Given the description of an element on the screen output the (x, y) to click on. 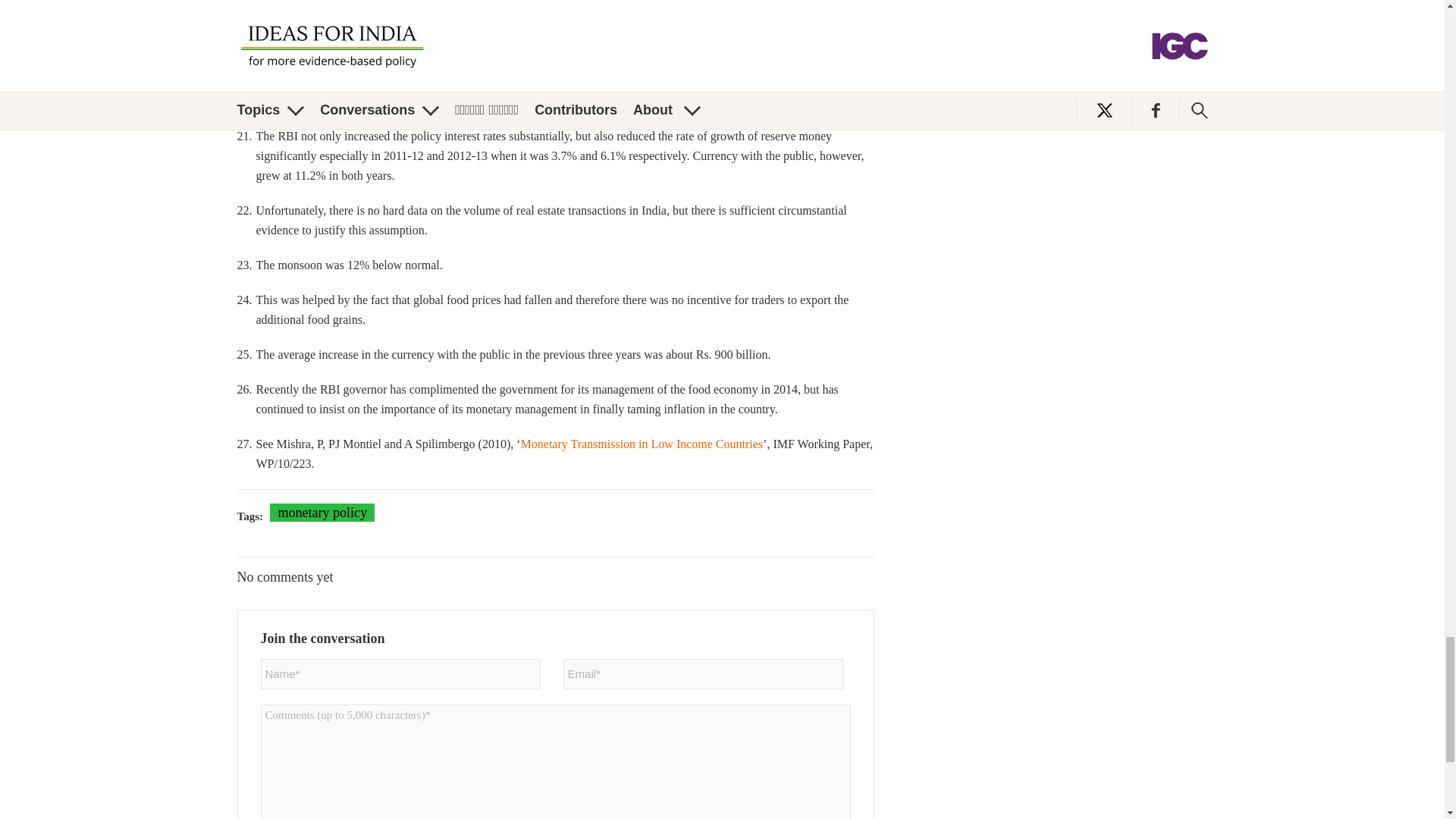
monetary policy (321, 512)
Monetary Transmission in Low Income Countries (641, 443)
